Given the description of an element on the screen output the (x, y) to click on. 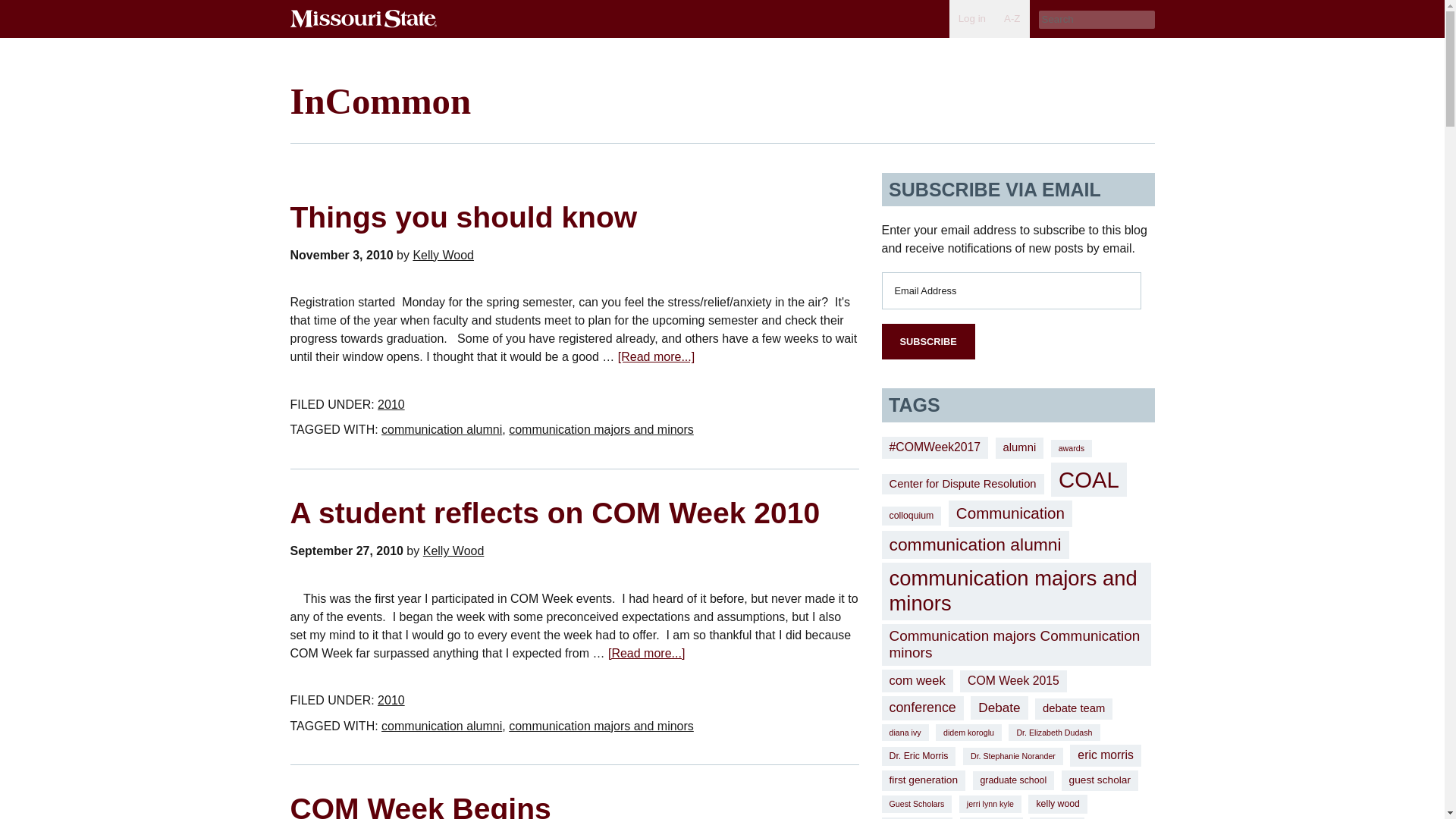
InCommon (379, 101)
Things you should know (463, 216)
A-Z (1011, 18)
Kelly Wood (443, 254)
Log in (971, 18)
2010 (390, 404)
